Given the description of an element on the screen output the (x, y) to click on. 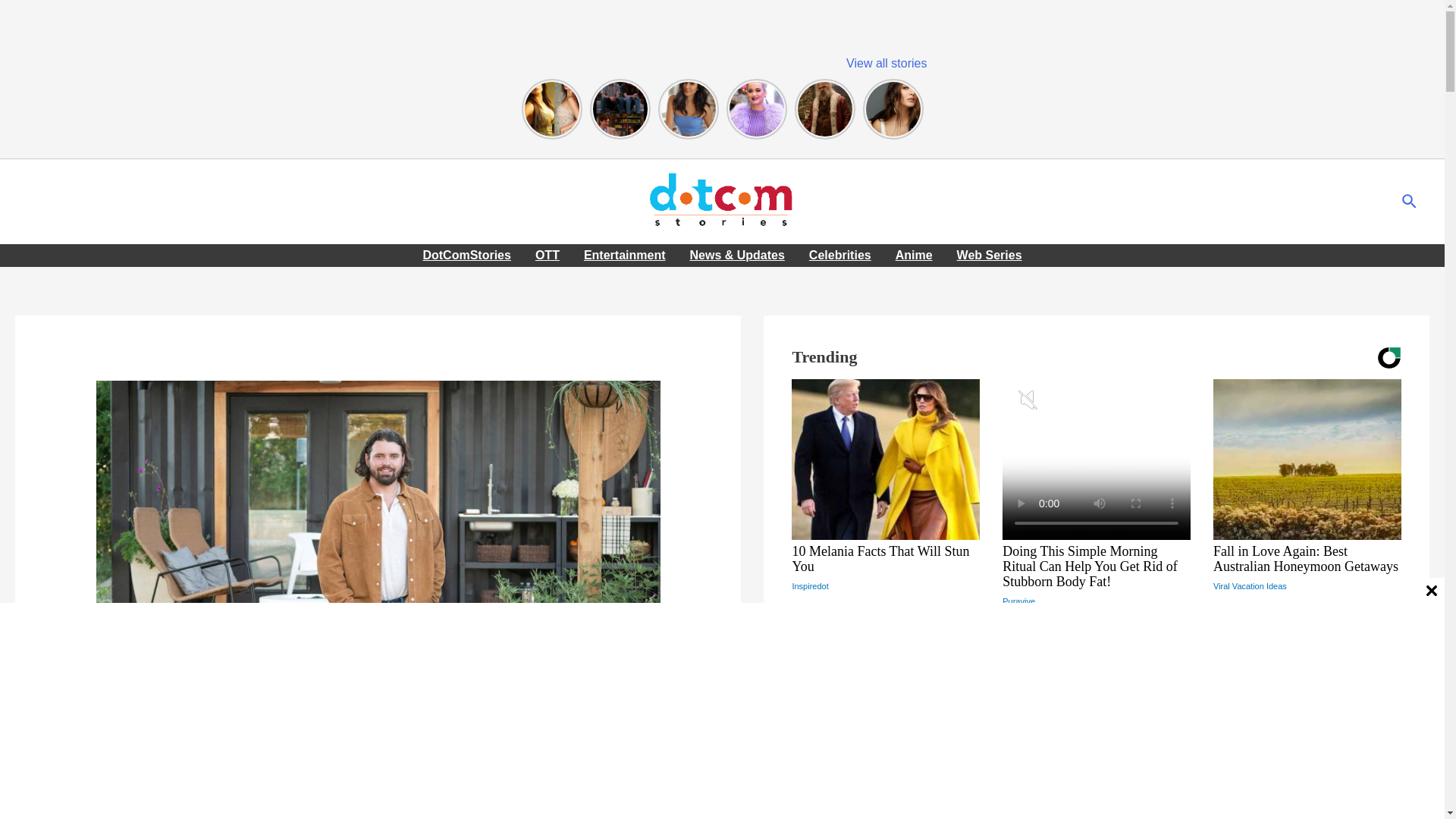
Divesh Solanki (239, 775)
Entertainment (133, 775)
OTT (547, 255)
Celebrities (839, 255)
View all posts by Divesh Solanki (239, 775)
Entertainment (625, 255)
Anime (913, 255)
DotComStories (466, 255)
View all stories (885, 62)
Web Series (988, 255)
